Given the description of an element on the screen output the (x, y) to click on. 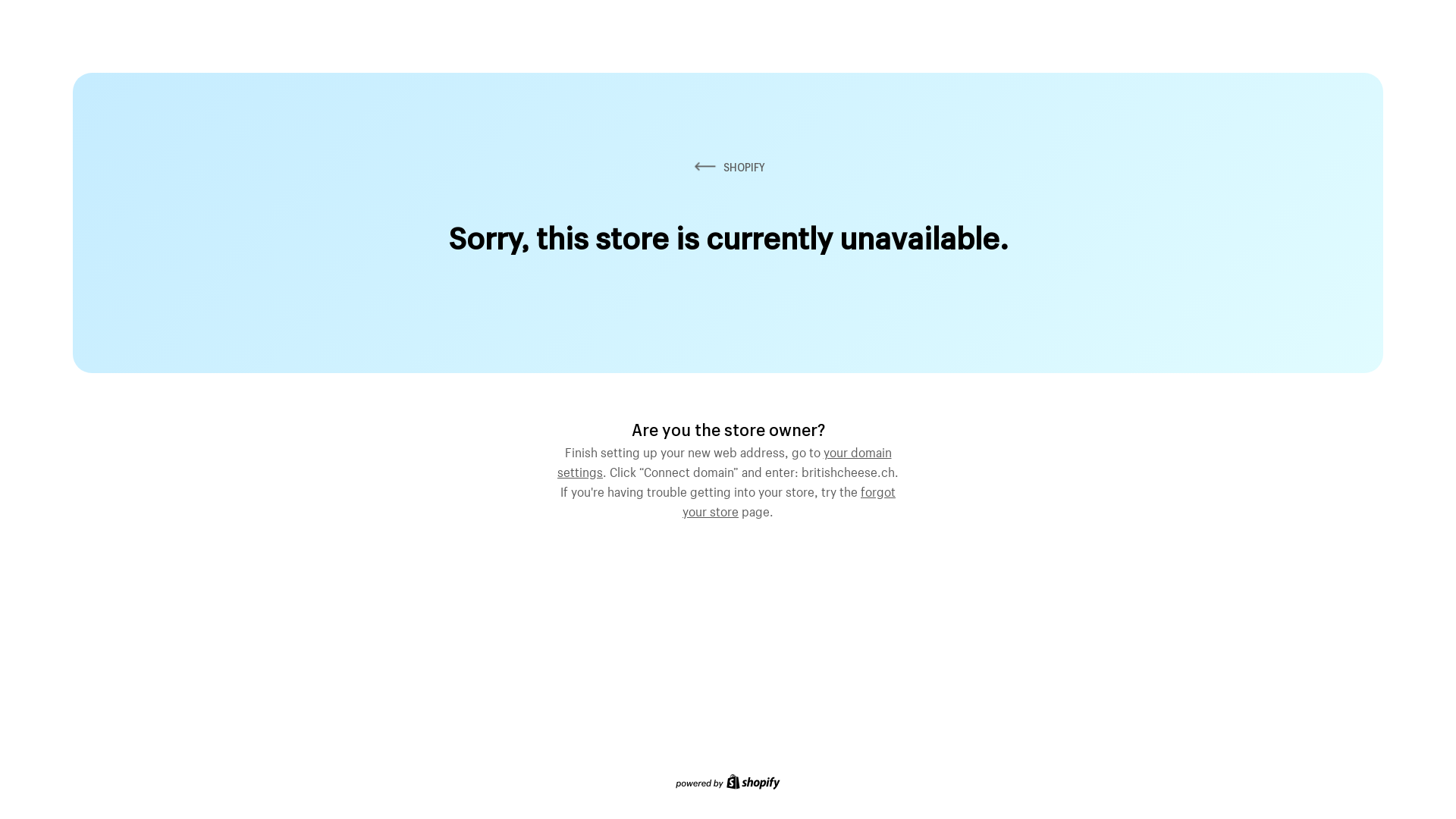
forgot your store Element type: text (788, 499)
SHOPIFY Element type: text (727, 167)
your domain settings Element type: text (724, 460)
